Given the description of an element on the screen output the (x, y) to click on. 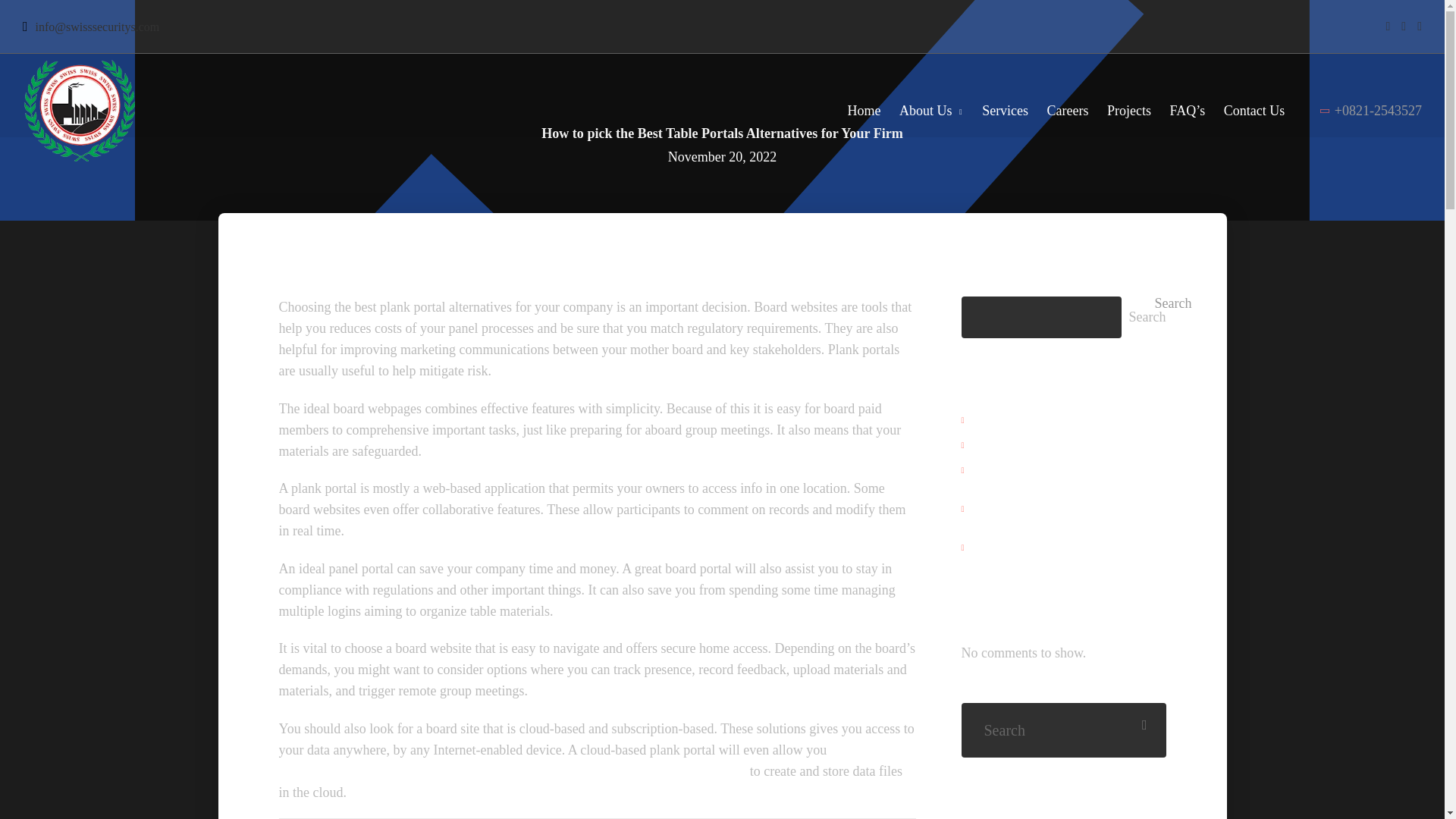
Search (1147, 317)
